Given the description of an element on the screen output the (x, y) to click on. 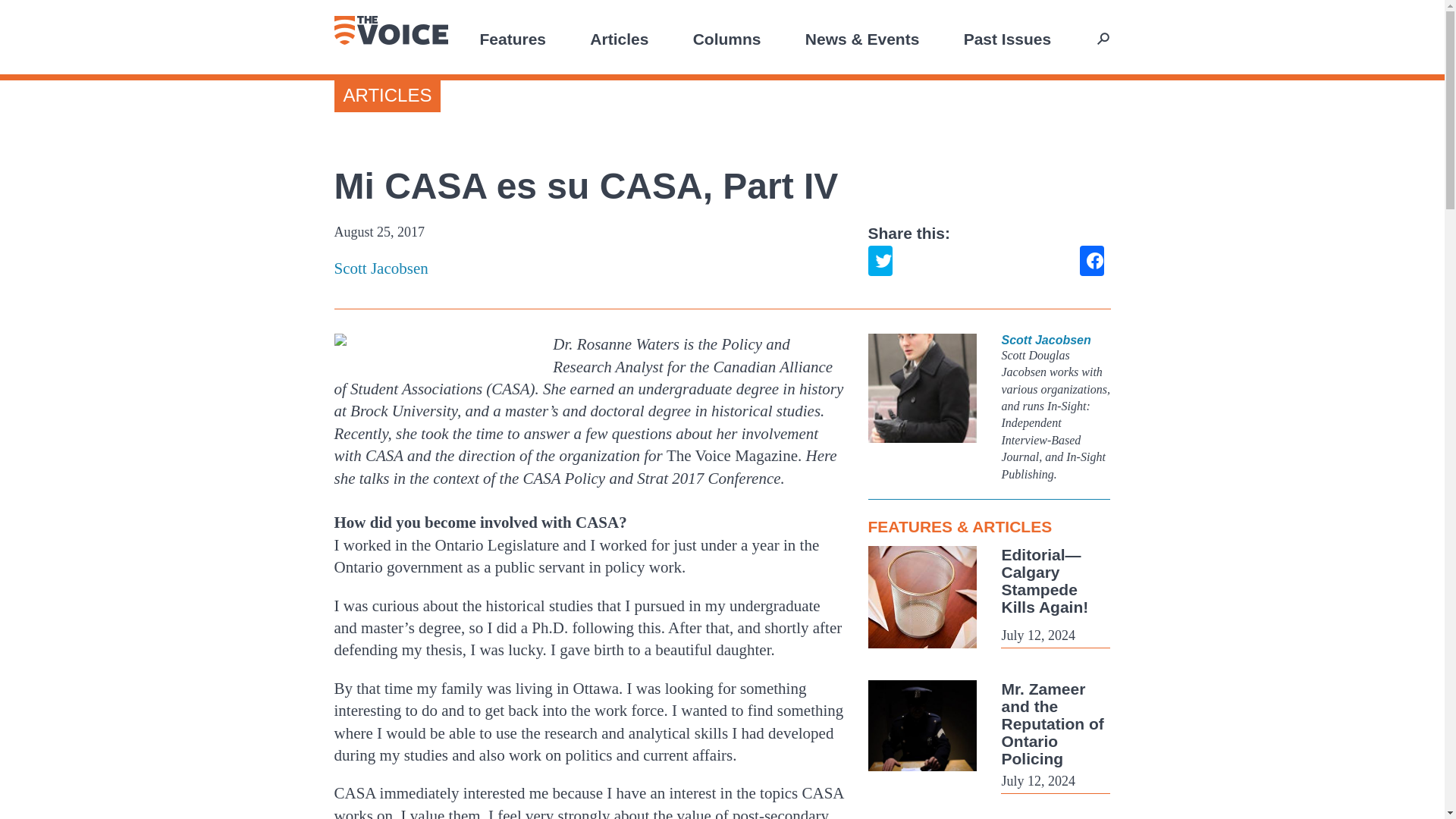
Articles (618, 38)
Scott Jacobsen (588, 268)
Past Issues (1007, 38)
Posts by Scott Jacobsen (588, 268)
The Voice (389, 30)
Mr. Zameer and the Reputation of Ontario Policing (1052, 723)
ARTICLES (386, 95)
Columns (727, 38)
Features (512, 38)
Mr. Zameer and the Reputation of Ontario Policing (1052, 723)
